Given the description of an element on the screen output the (x, y) to click on. 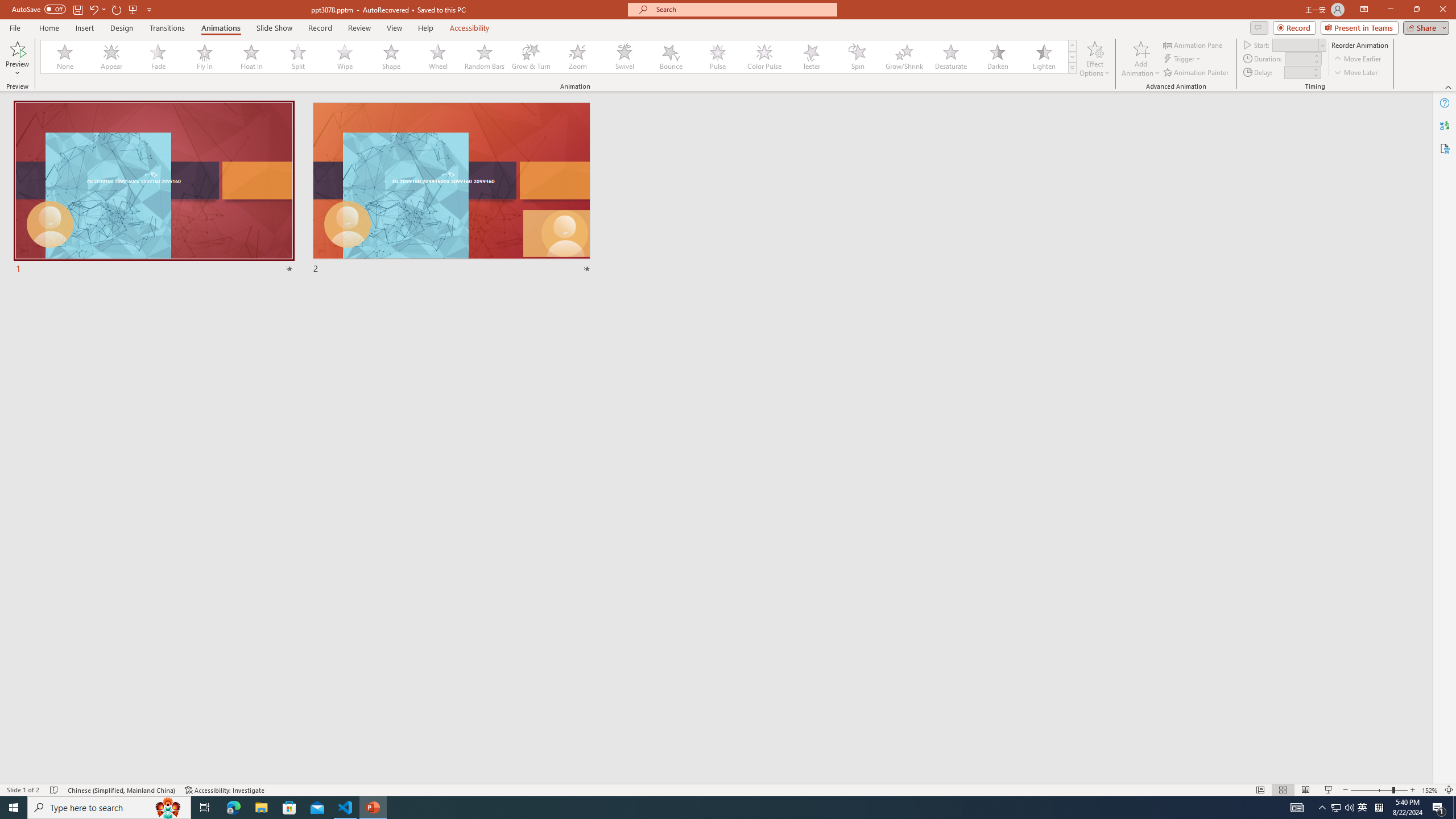
Pulse (717, 56)
Trigger (1182, 58)
